Given the description of an element on the screen output the (x, y) to click on. 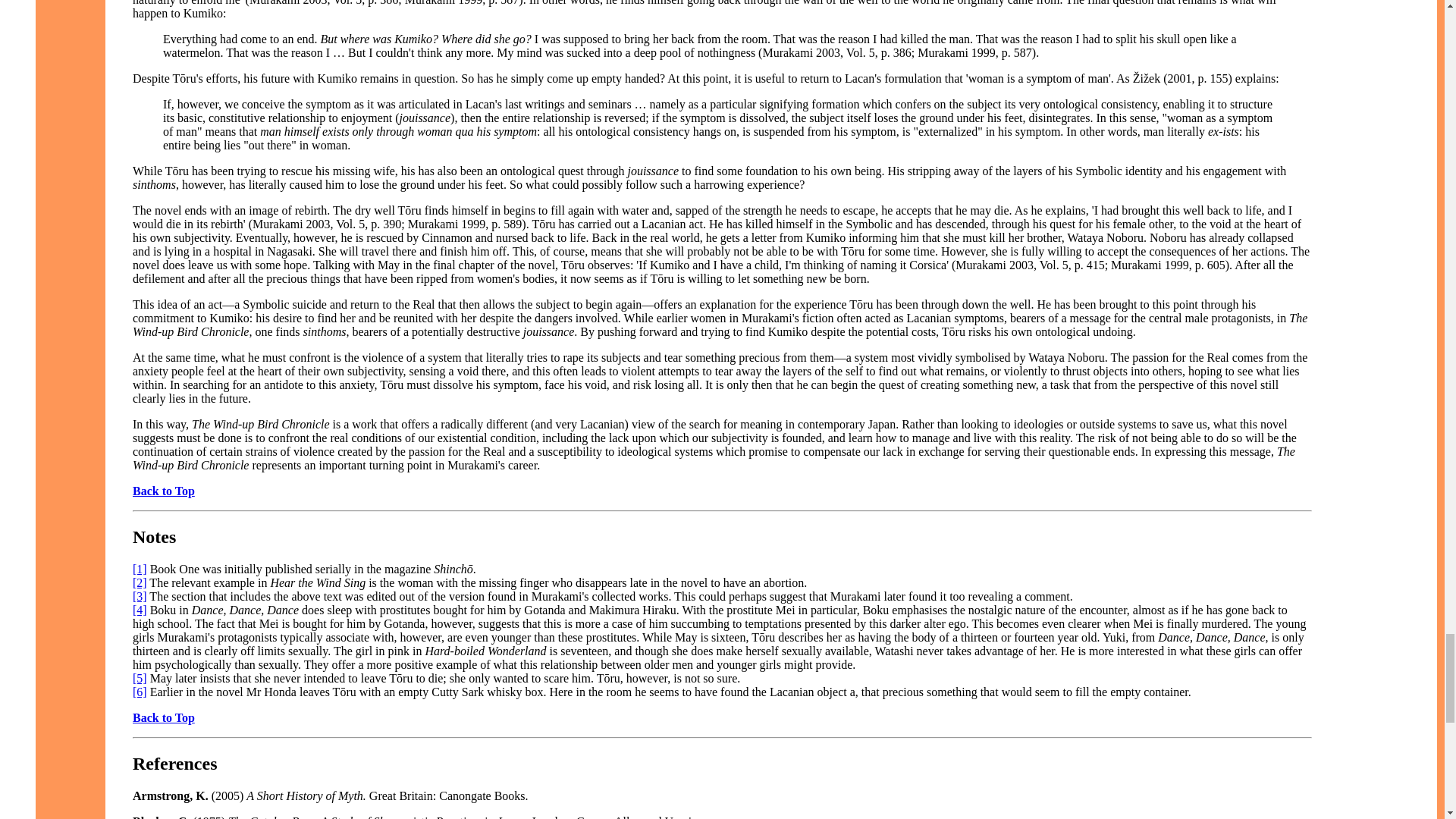
Back to Top (163, 490)
Back to Top (163, 717)
